Given the description of an element on the screen output the (x, y) to click on. 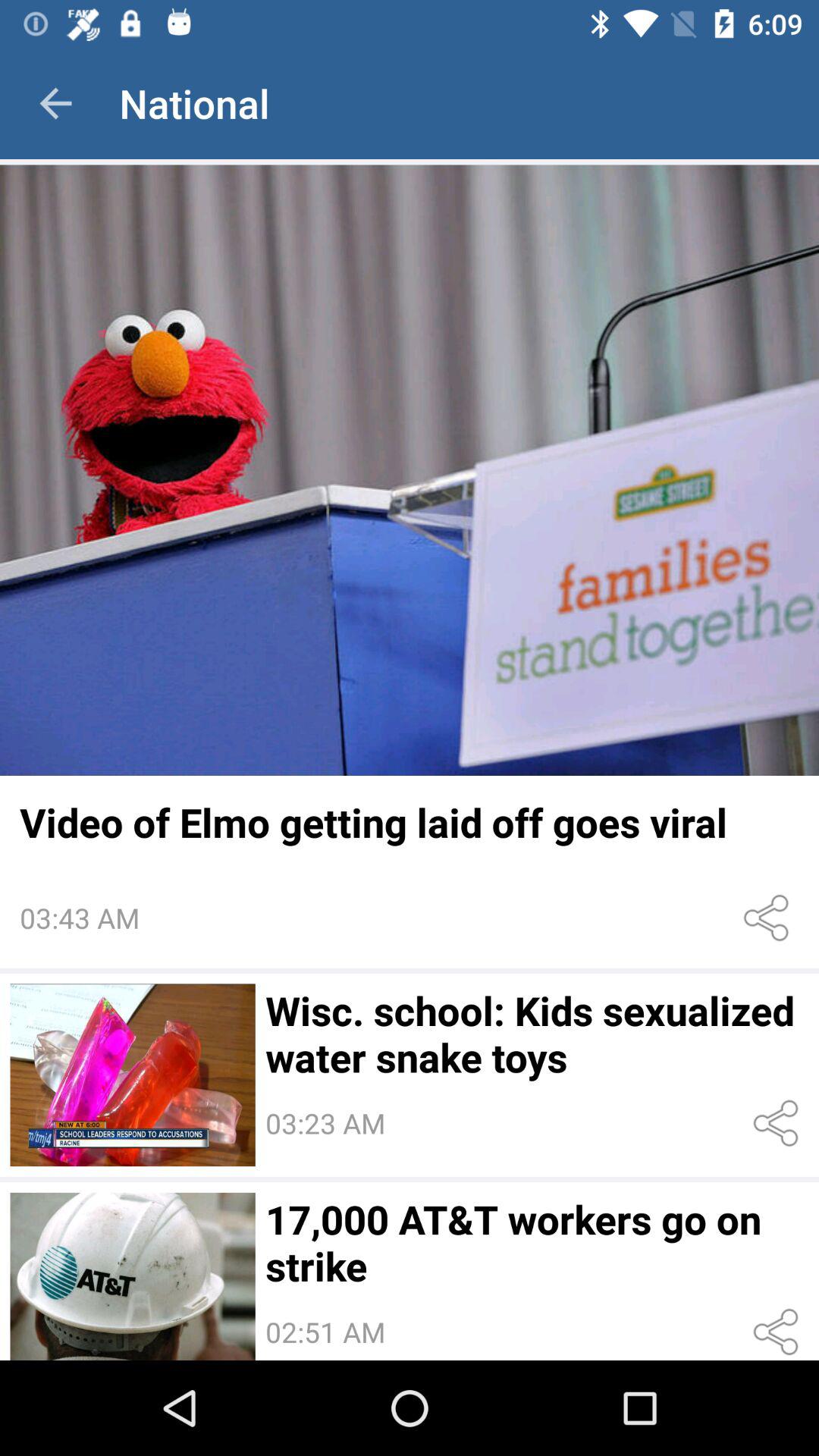
share the article (778, 1123)
